Given the description of an element on the screen output the (x, y) to click on. 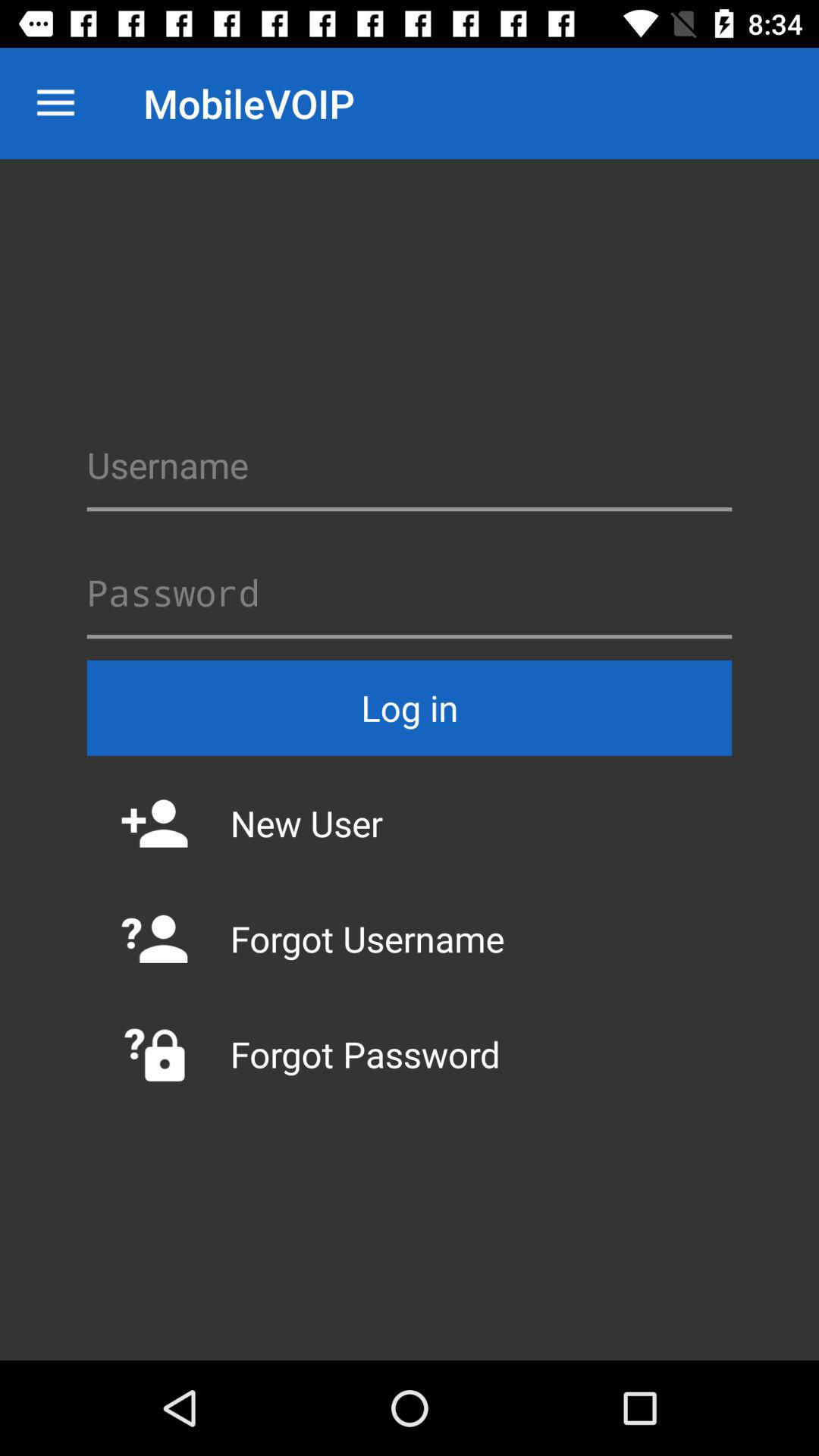
launch the item above the new user (409, 707)
